Given the description of an element on the screen output the (x, y) to click on. 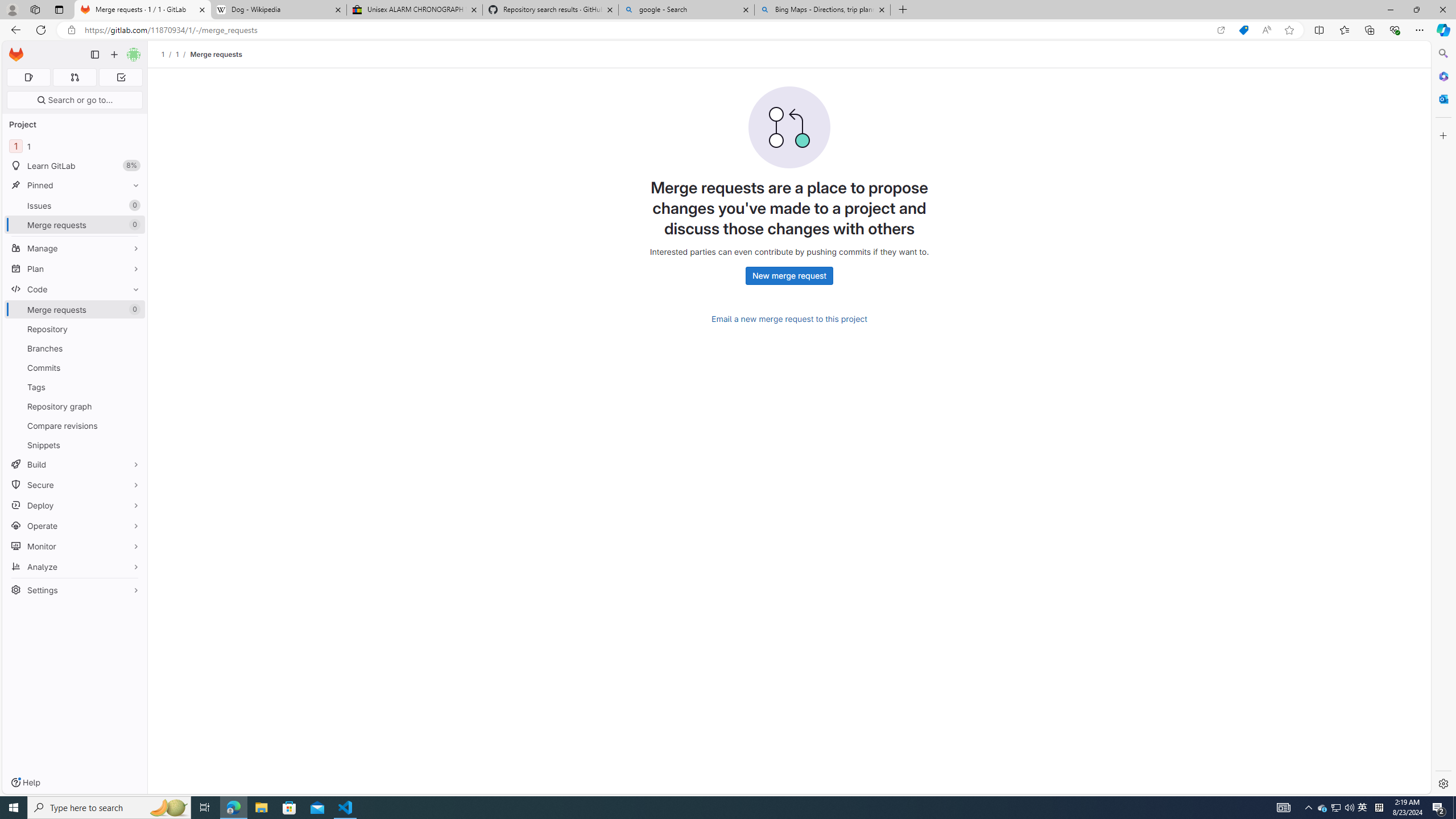
Deploy (74, 505)
Pin Compare revisions (132, 425)
Analyze (74, 566)
Commits (74, 367)
Pin Branches (132, 348)
To-Do list 0 (120, 76)
1/ (183, 53)
1 1 (74, 145)
Repository graph (74, 406)
1 (177, 53)
Pin Repository (132, 328)
